Given the description of an element on the screen output the (x, y) to click on. 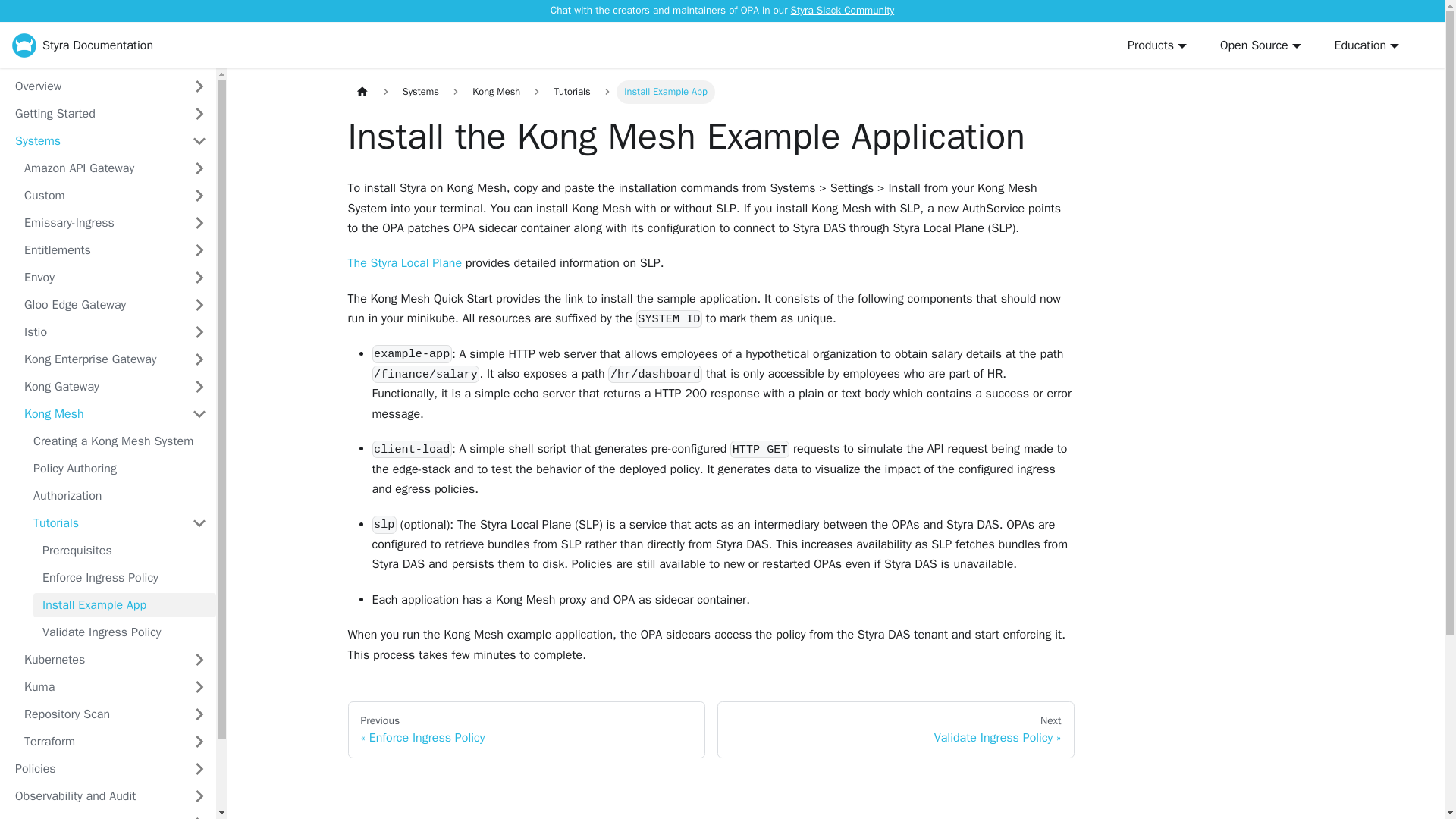
Systems (94, 140)
Overview (94, 86)
Envoy (98, 277)
Istio (98, 331)
Kong Enterprise Gateway (98, 359)
Gloo Edge Gateway (98, 304)
Amazon API Gateway (98, 168)
Custom (98, 195)
Products (1156, 45)
Getting Started (94, 113)
